Given the description of an element on the screen output the (x, y) to click on. 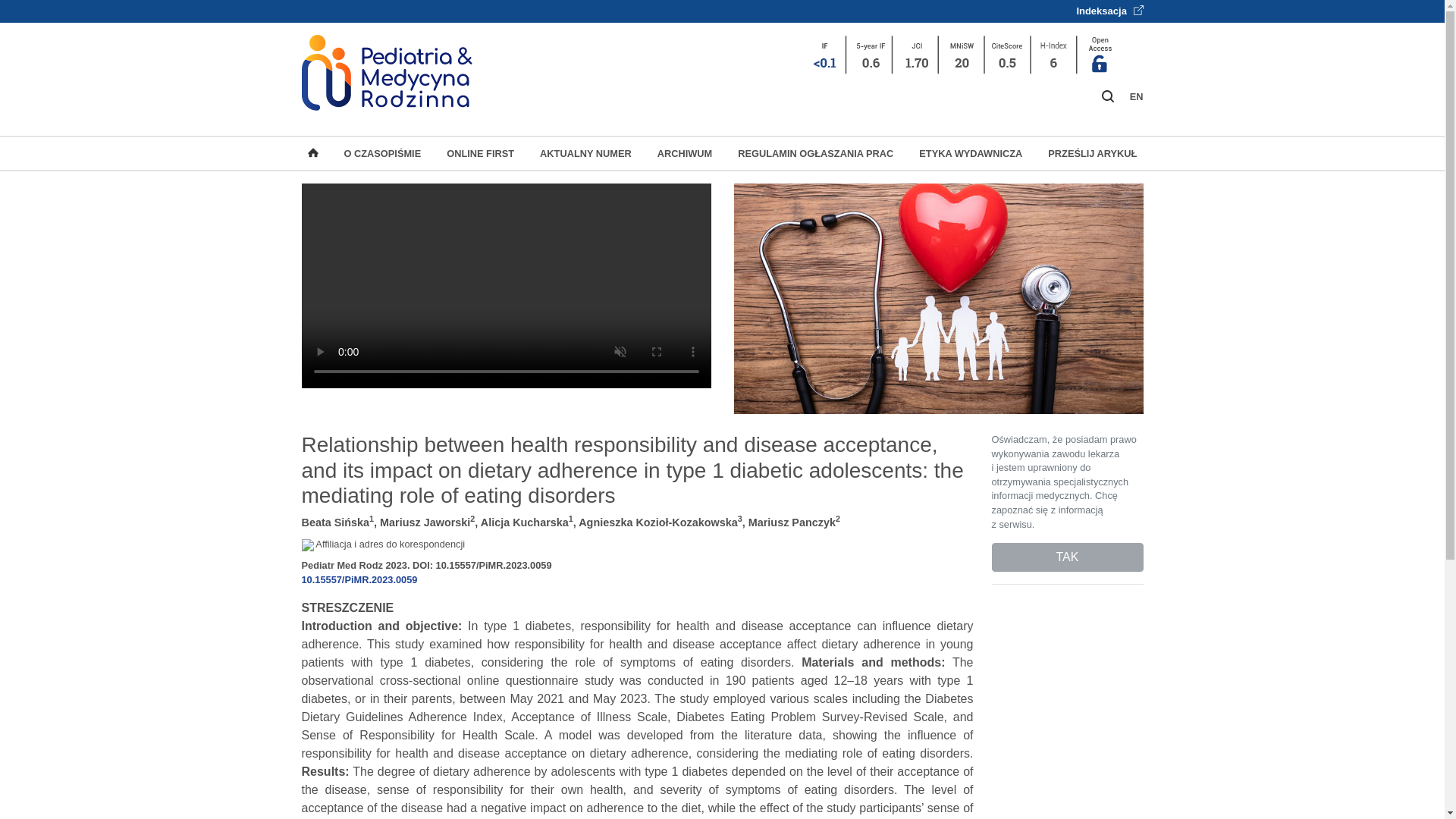
TAK (1066, 556)
ETYKA WYDAWNICZA (969, 153)
ONLINE FIRST (480, 153)
ARCHIWUM (684, 153)
Indeksacja (1108, 10)
AKTUALNY NUMER (585, 153)
